Given the description of an element on the screen output the (x, y) to click on. 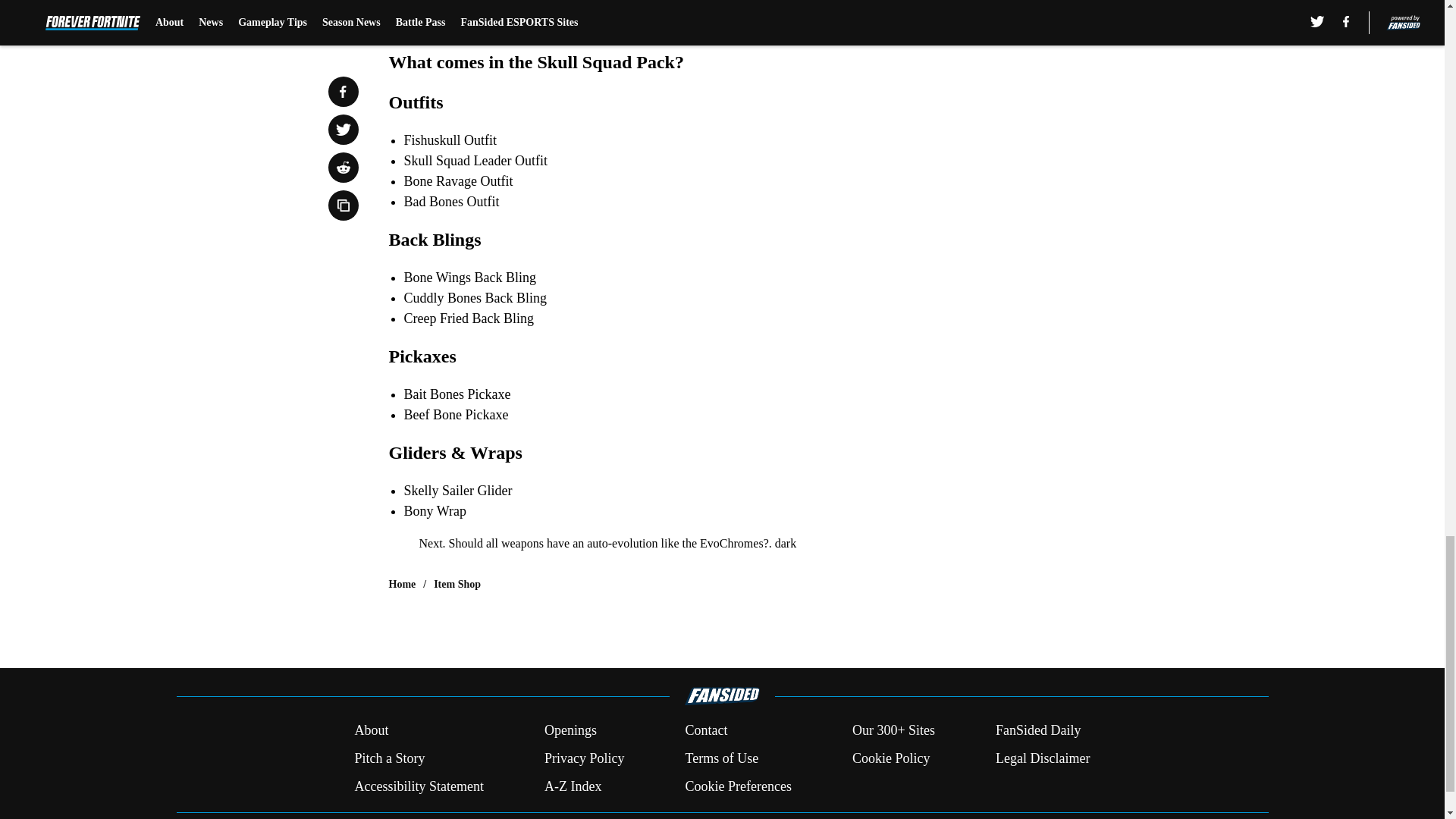
Contact (705, 730)
Terms of Use (721, 758)
Pitch a Story (389, 758)
Accessibility Statement (418, 786)
Openings (570, 730)
October 3, 2022 (672, 15)
Privacy Policy (584, 758)
Legal Disclaimer (1042, 758)
A-Z Index (572, 786)
Item Shop (456, 584)
